Given the description of an element on the screen output the (x, y) to click on. 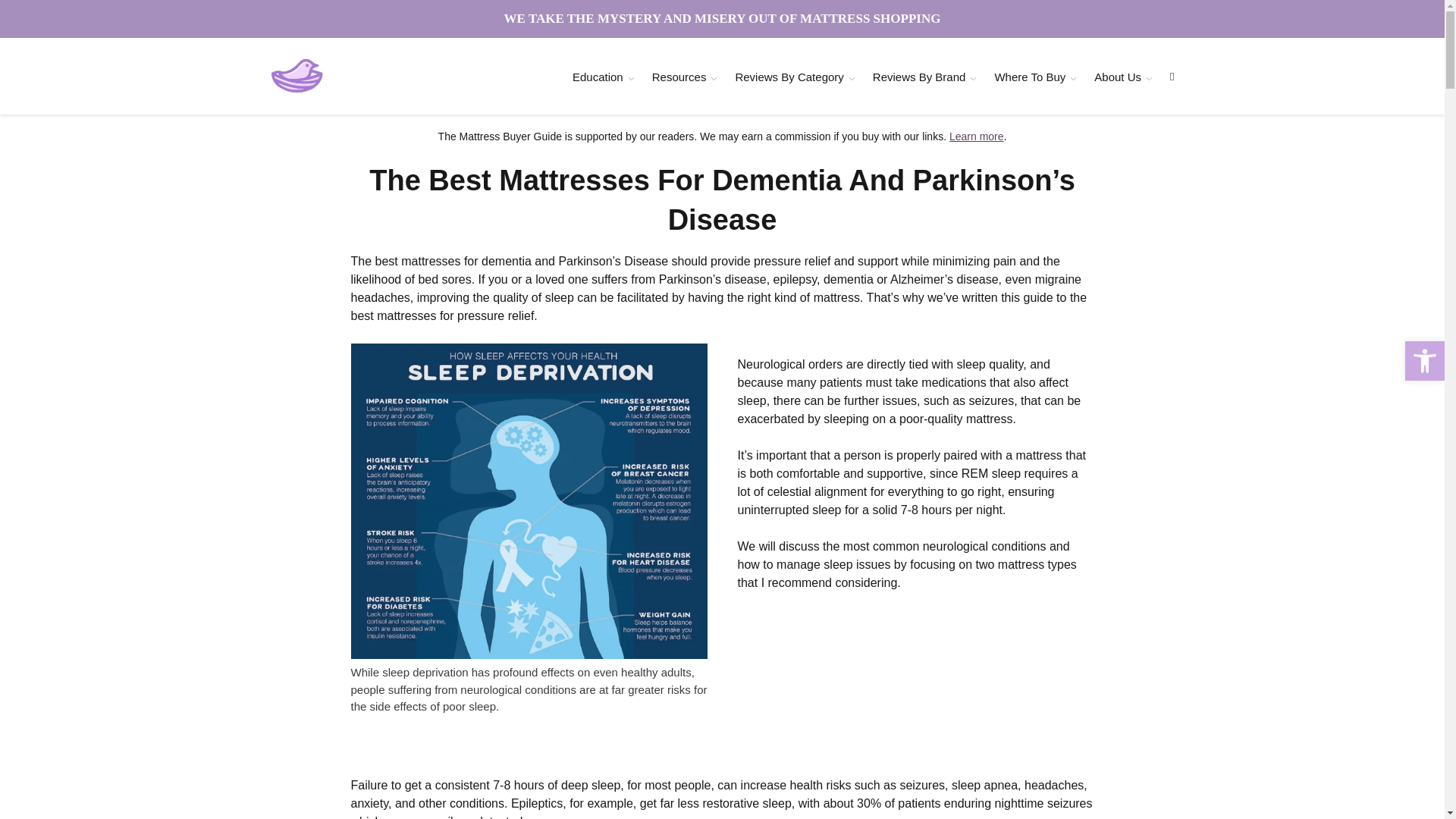
Accessibility Tools (1424, 360)
Education (597, 76)
Resources (678, 76)
Reviews By Category (788, 76)
